Given the description of an element on the screen output the (x, y) to click on. 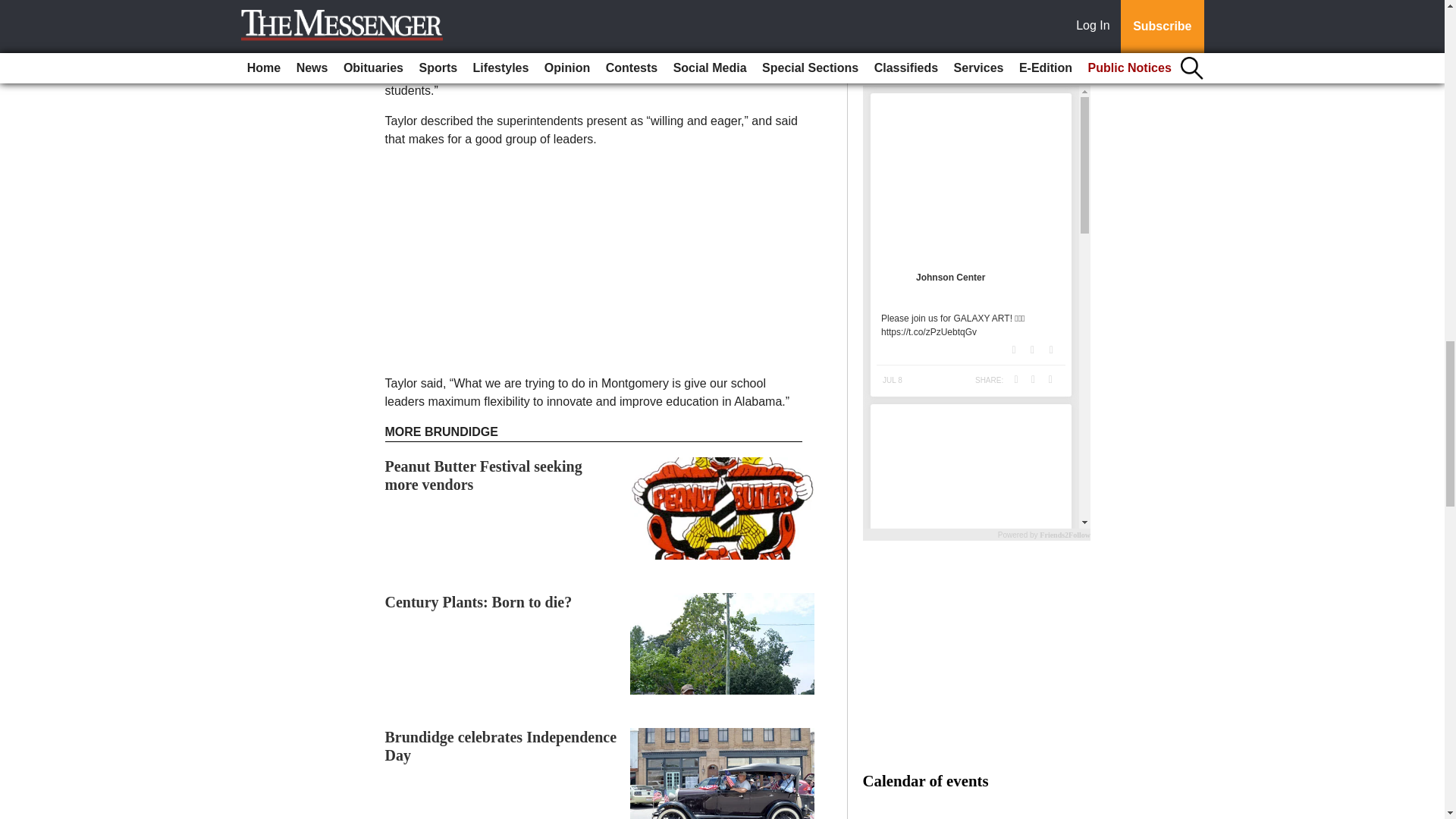
Brundidge celebrates Independence Day (501, 745)
Century Plants: Born to die? (478, 601)
Peanut Butter Festival seeking more vendors (483, 475)
